Given the description of an element on the screen output the (x, y) to click on. 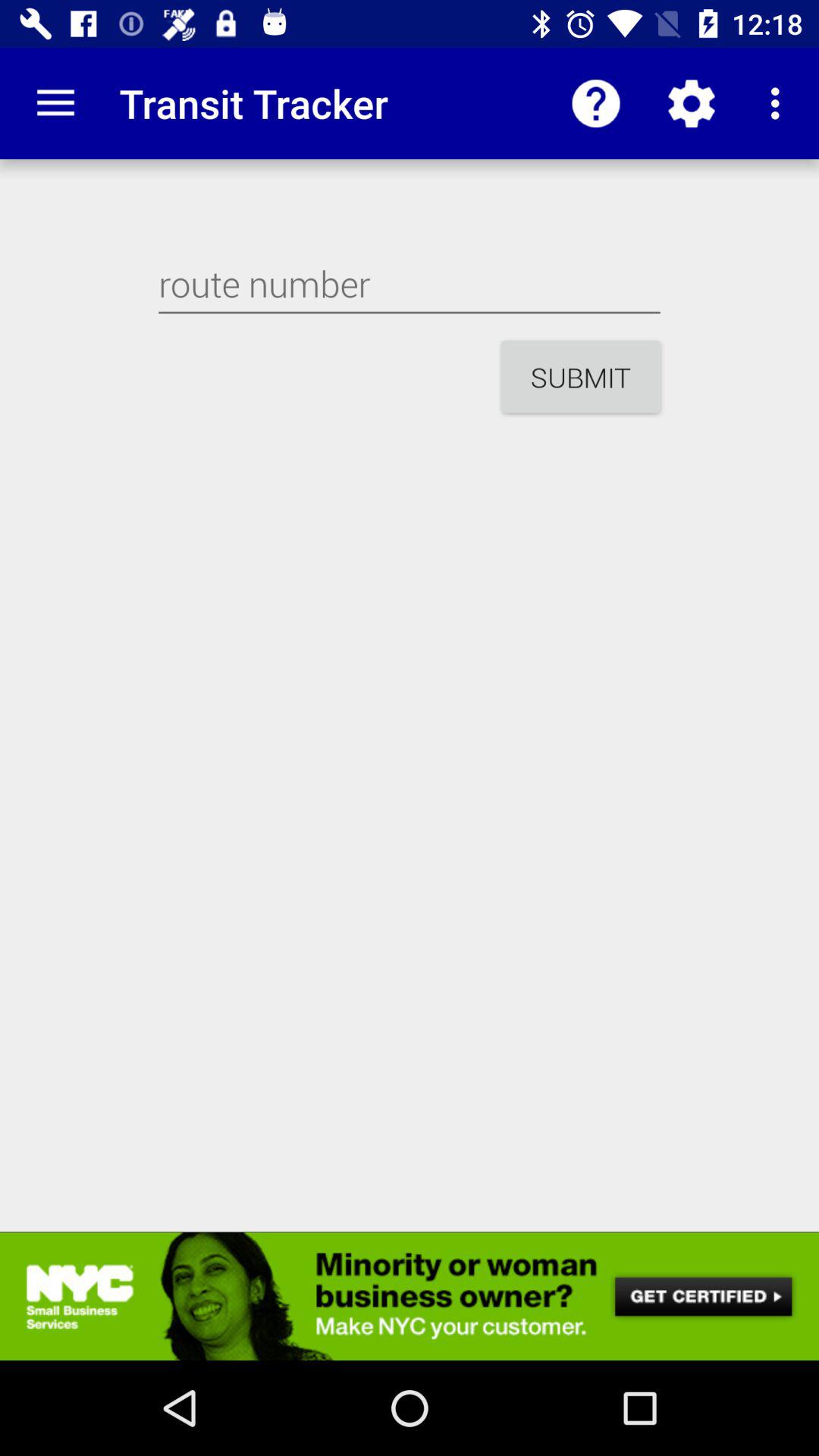
textbox (409, 284)
